Given the description of an element on the screen output the (x, y) to click on. 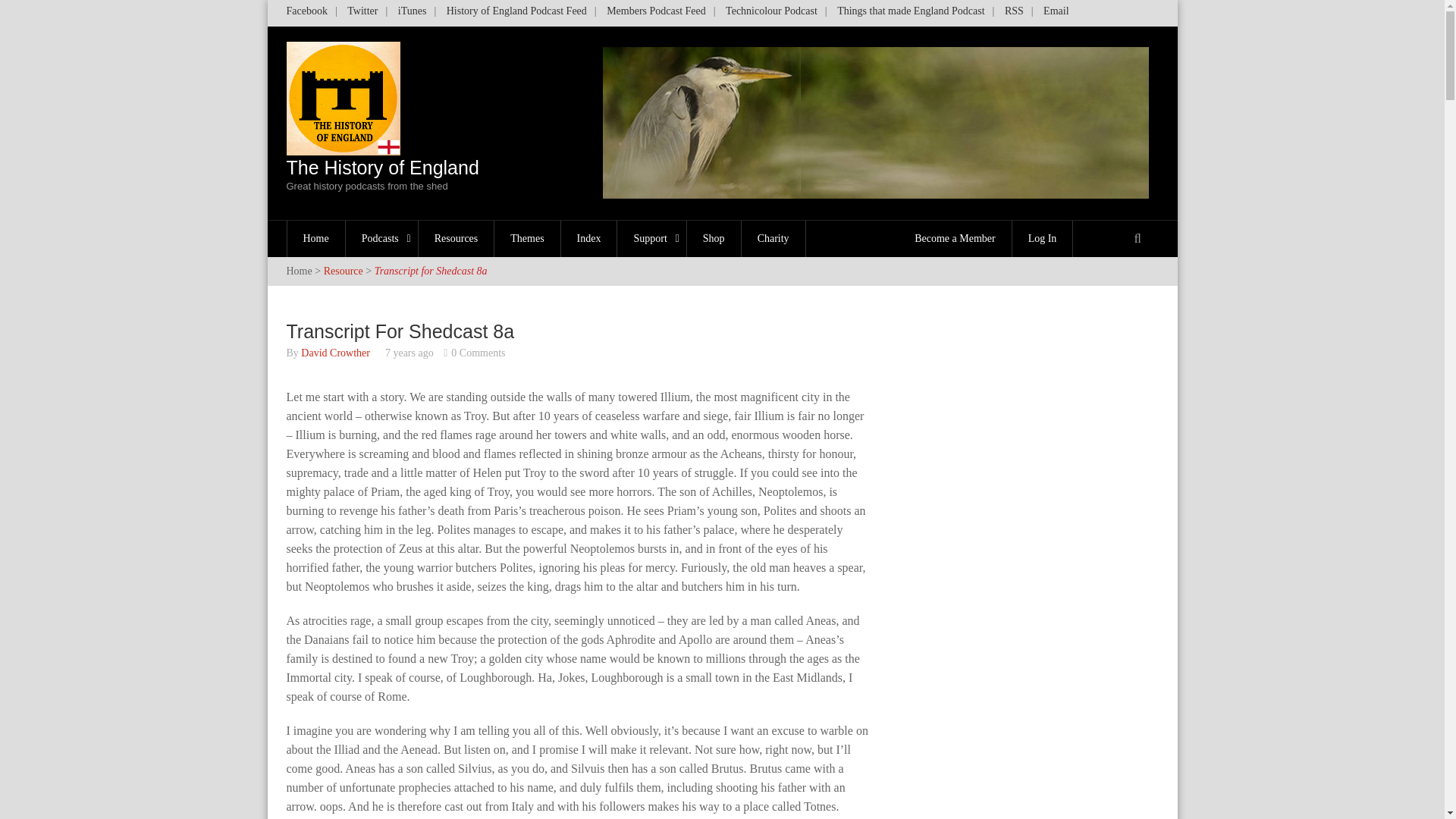
Home (316, 238)
Facebook (310, 13)
Things that made England Podcast (910, 13)
Index (588, 238)
Resources (457, 238)
RSS (1013, 13)
Themes (527, 238)
Support (651, 238)
Technicolour Podcast (771, 13)
iTunes (382, 173)
History of England Podcast Feed (411, 13)
Email (516, 13)
Members Podcast Feed (1055, 13)
Podcasts (655, 13)
